Given the description of an element on the screen output the (x, y) to click on. 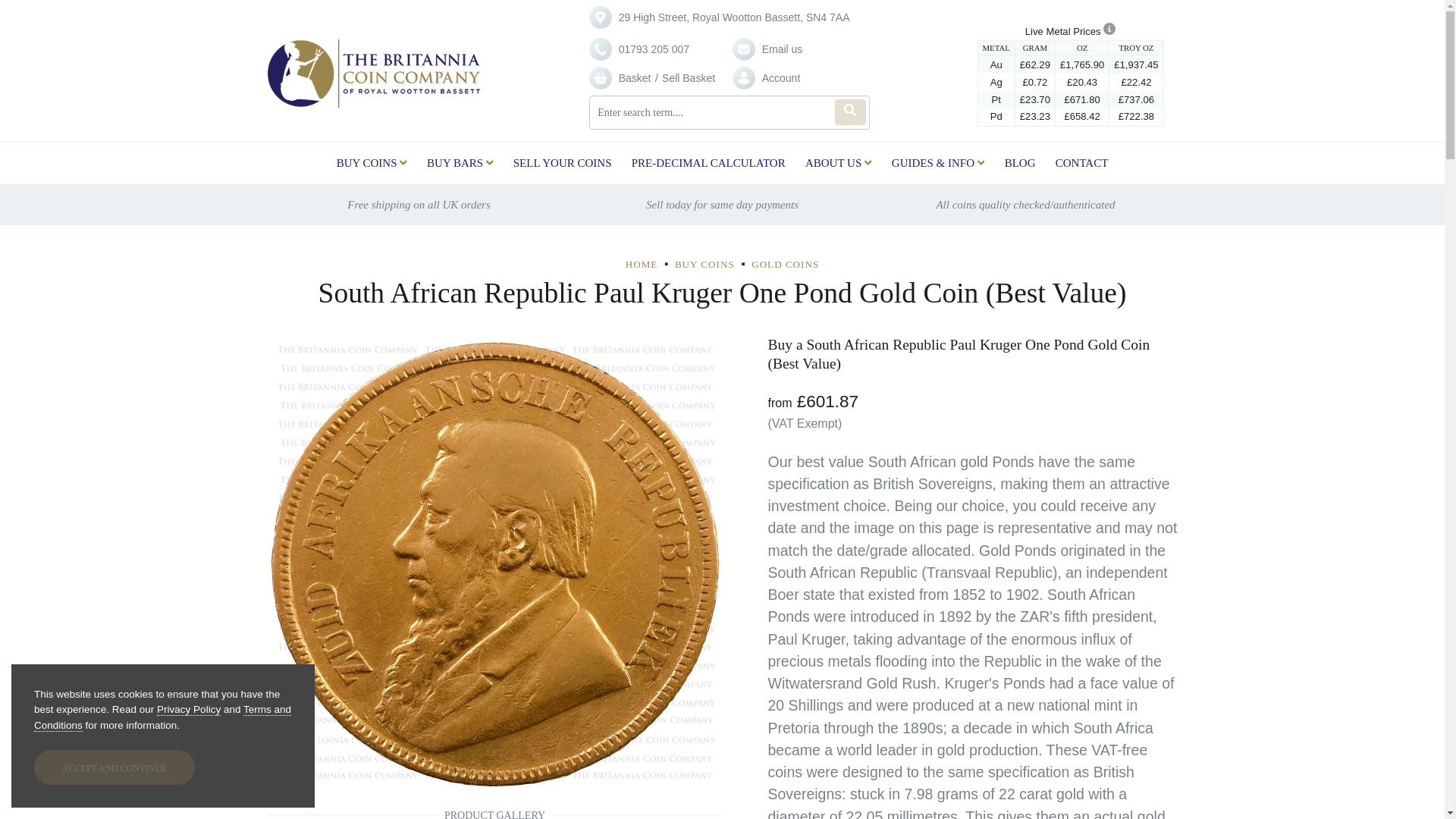
Email us (782, 48)
BUY COINS (371, 163)
Basket (634, 77)
Account (780, 77)
Sell Basket (688, 77)
01793 205 007 (653, 48)
